Given the description of an element on the screen output the (x, y) to click on. 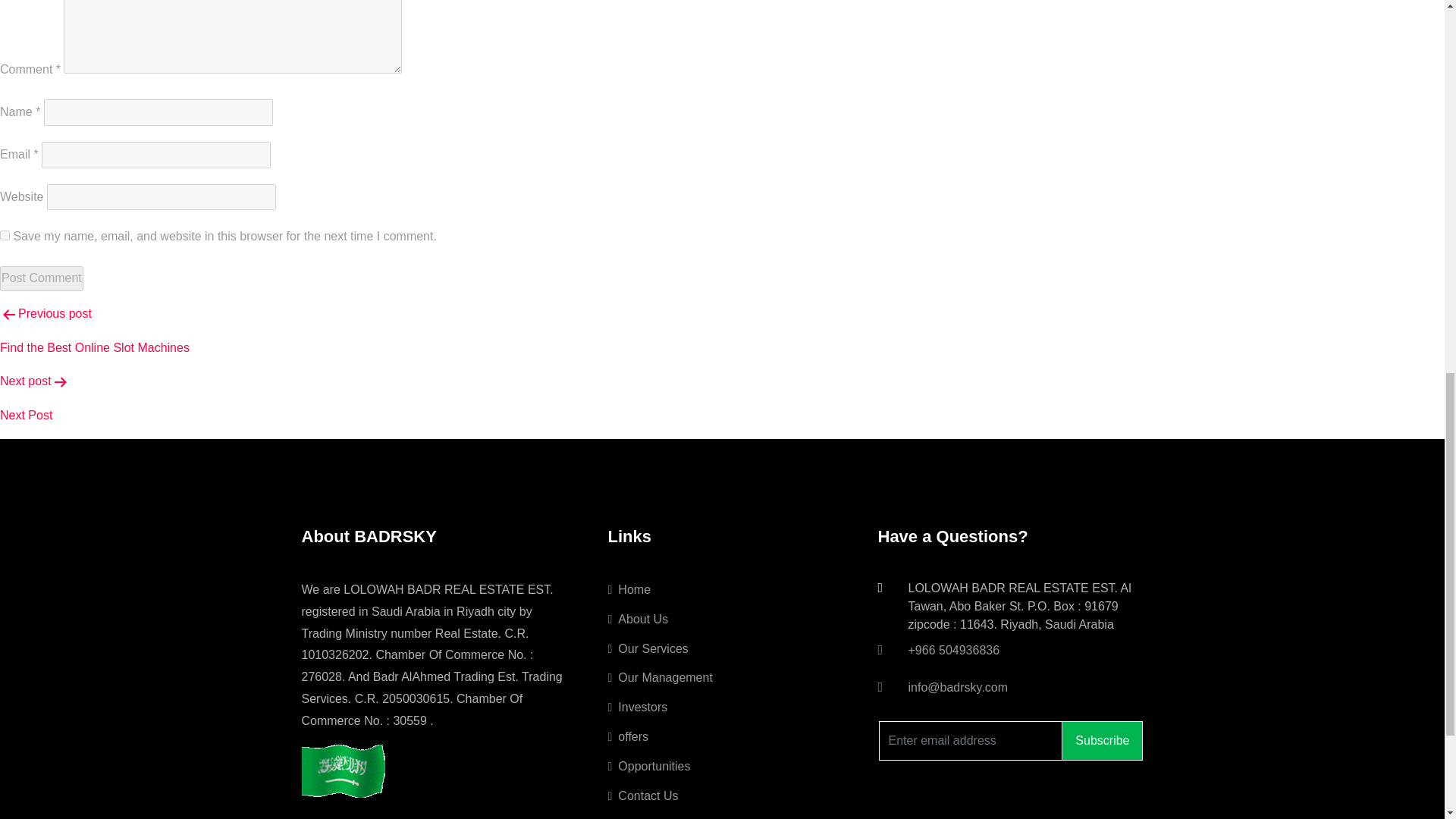
Our Services (648, 648)
Our Management (660, 676)
Post Comment (41, 278)
Subscribe (1101, 740)
About Us (638, 618)
Investors (638, 707)
offers (628, 736)
Subscribe (1101, 740)
Opportunities (649, 766)
Home (629, 589)
